Given the description of an element on the screen output the (x, y) to click on. 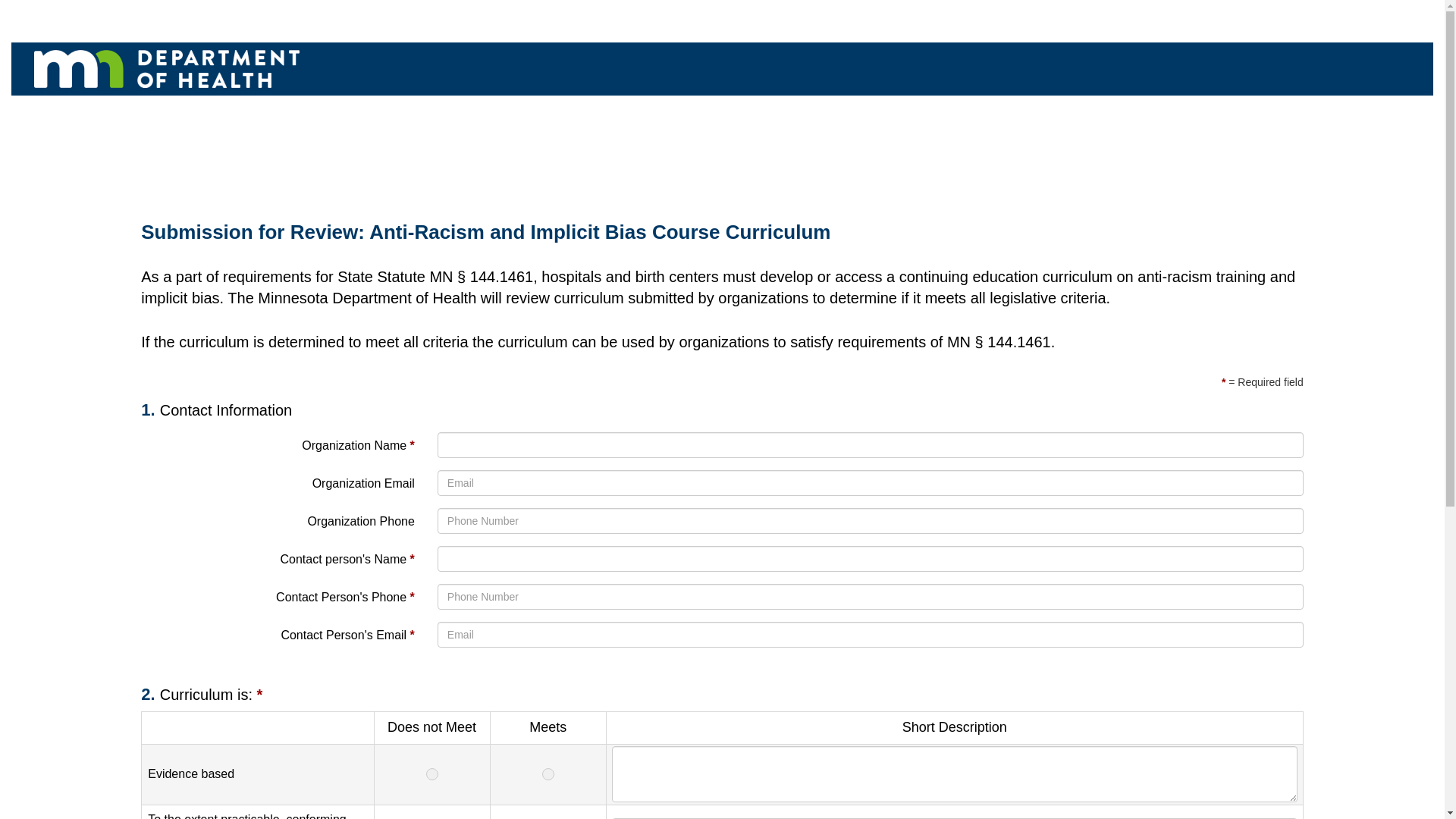
Evidence based Meets (547, 774)
Evidence based Does not Meet (431, 774)
Evidence based (954, 774)
1. (149, 409)
2. (149, 693)
